Given the description of an element on the screen output the (x, y) to click on. 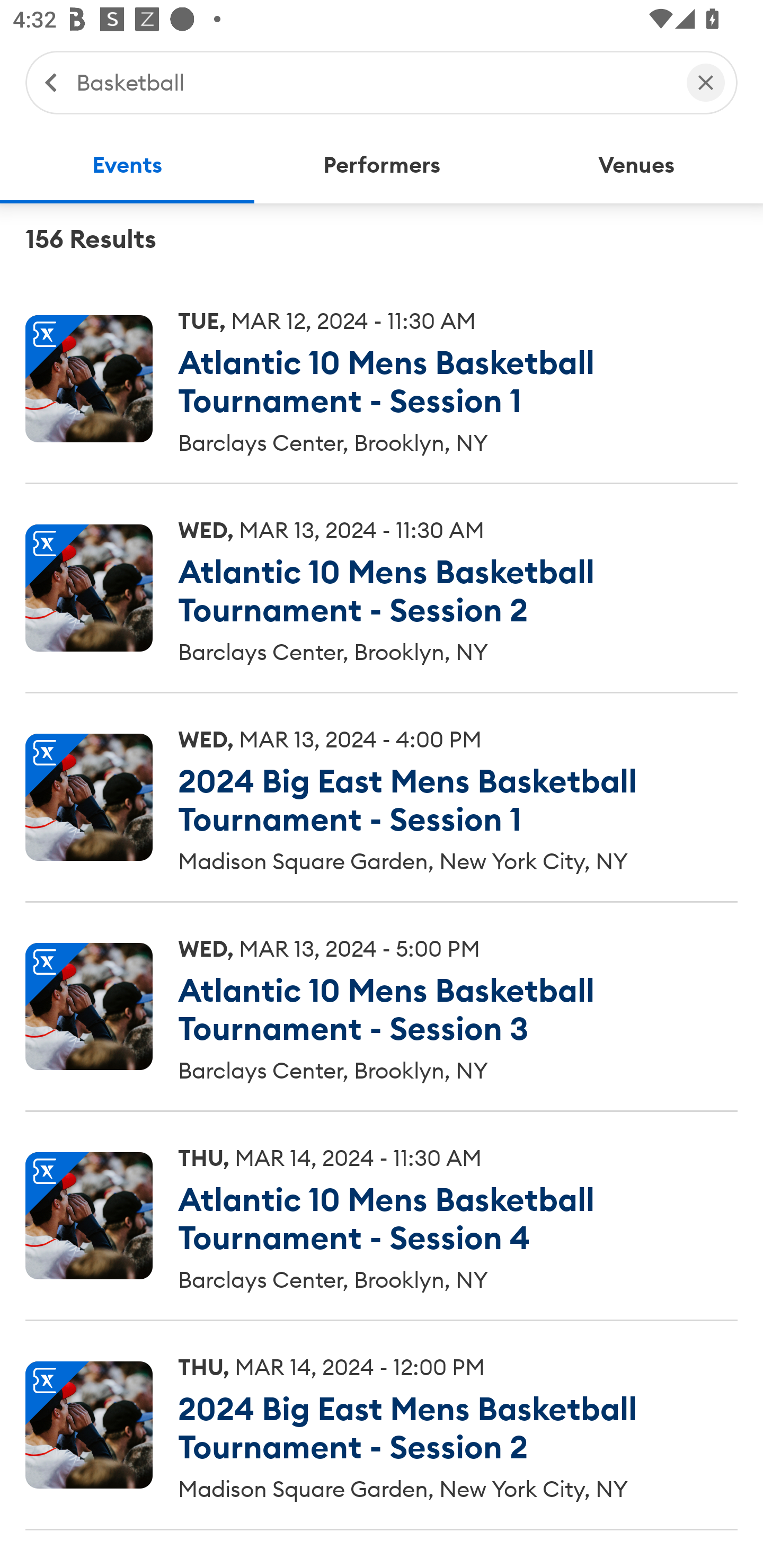
Basketball (371, 81)
Clear Search (705, 81)
Performers (381, 165)
Venues (635, 165)
